Given the description of an element on the screen output the (x, y) to click on. 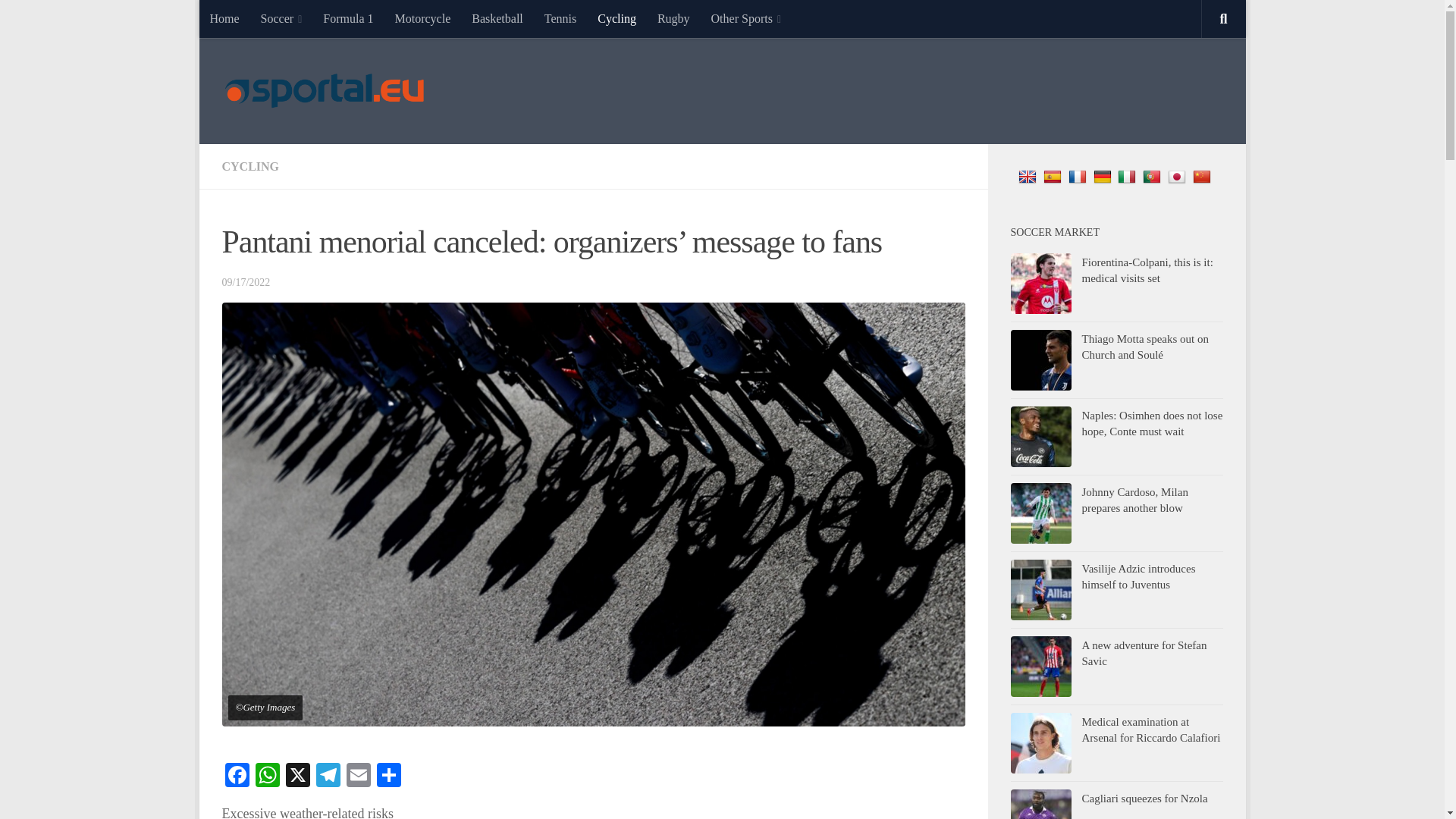
Telegram (327, 776)
Email (357, 776)
WhatsApp (266, 776)
Skip to content (258, 20)
Home (223, 18)
Soccer (281, 18)
Cycling (616, 18)
Facebook (236, 776)
Formula 1 (348, 18)
Telegram (327, 776)
Motorcycle (422, 18)
Other Sports (746, 18)
CYCLING (250, 165)
WhatsApp (266, 776)
X (297, 776)
